Given the description of an element on the screen output the (x, y) to click on. 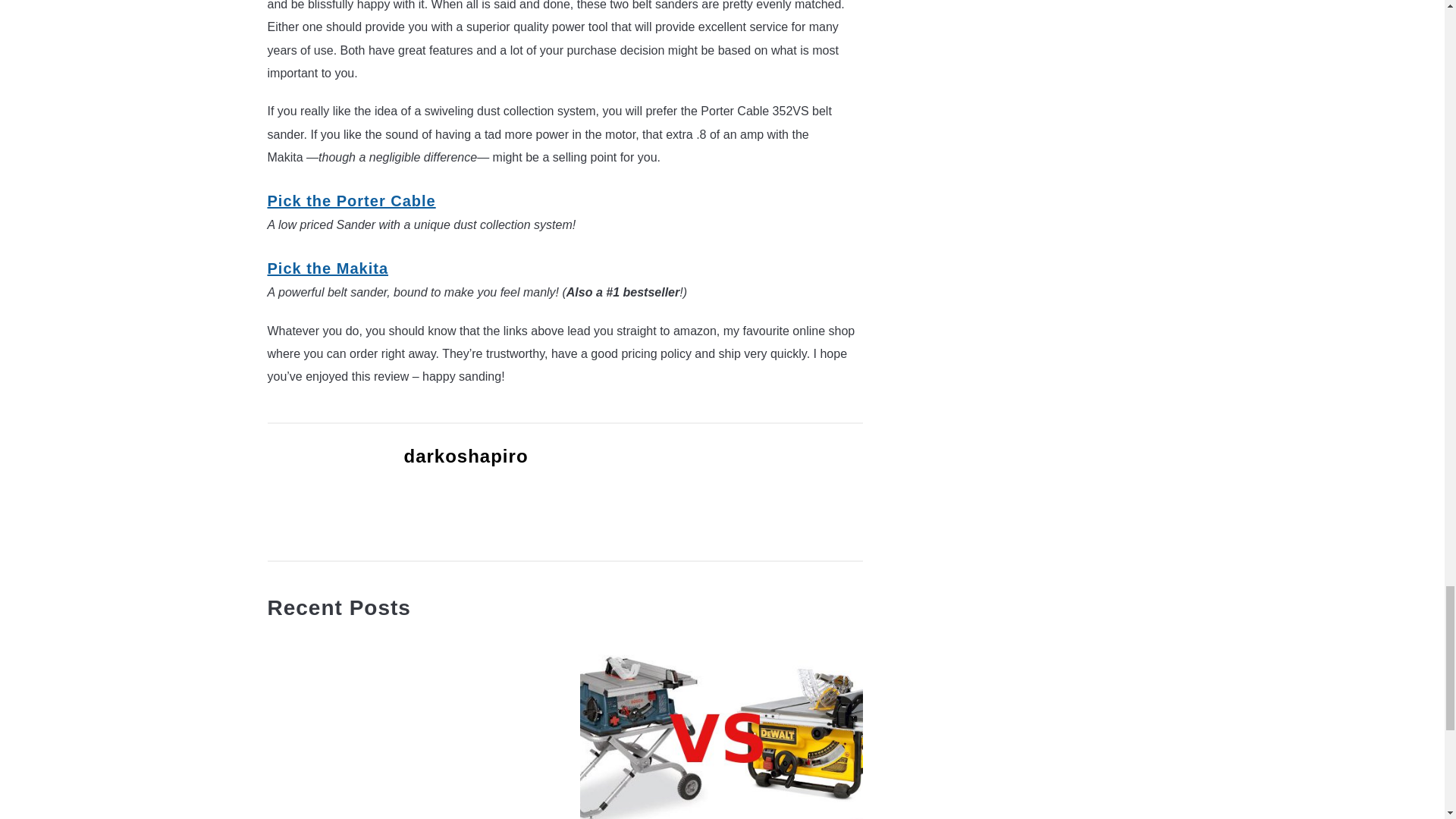
Pick the Porter Cable (350, 200)
darkoshapiro (465, 455)
Pick the Makita (327, 268)
